Given the description of an element on the screen output the (x, y) to click on. 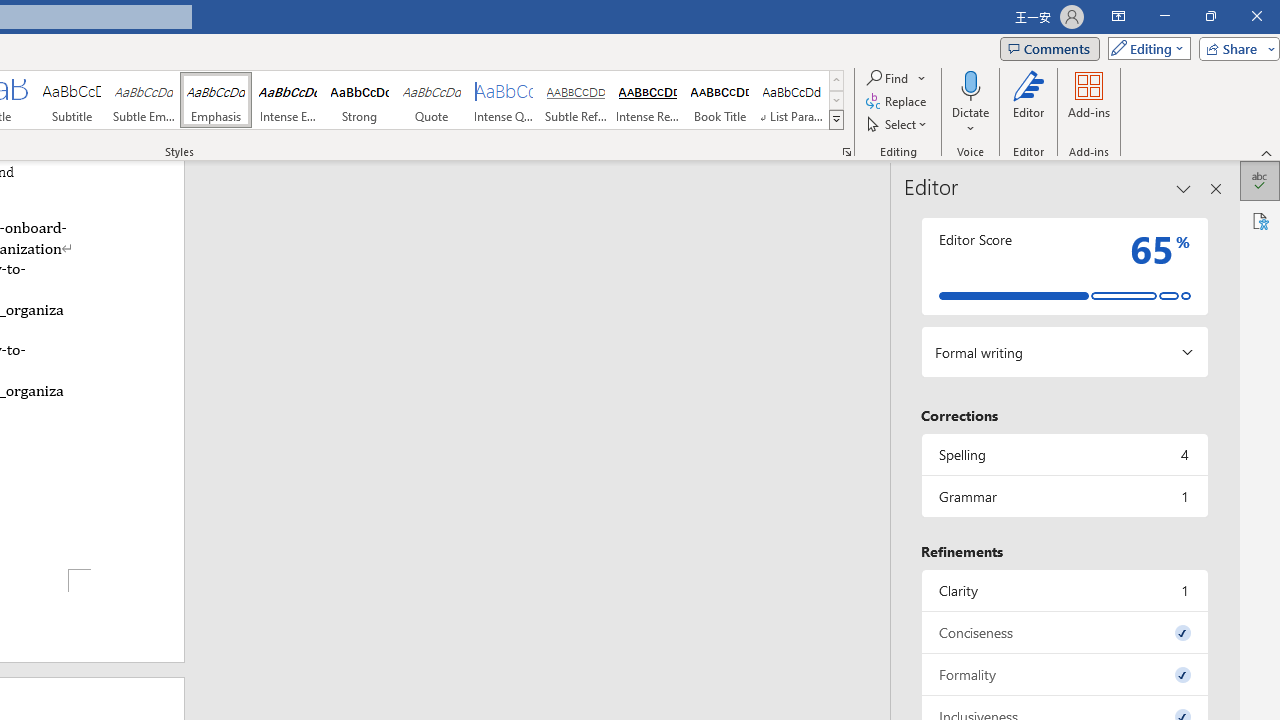
Intense Quote (504, 100)
Spelling, 4 issues. Press space or enter to review items. (1064, 454)
Editor Score 65% (1064, 266)
Book Title (719, 100)
Formality, 0 issues. Press space or enter to review items. (1064, 673)
